Given the description of an element on the screen output the (x, y) to click on. 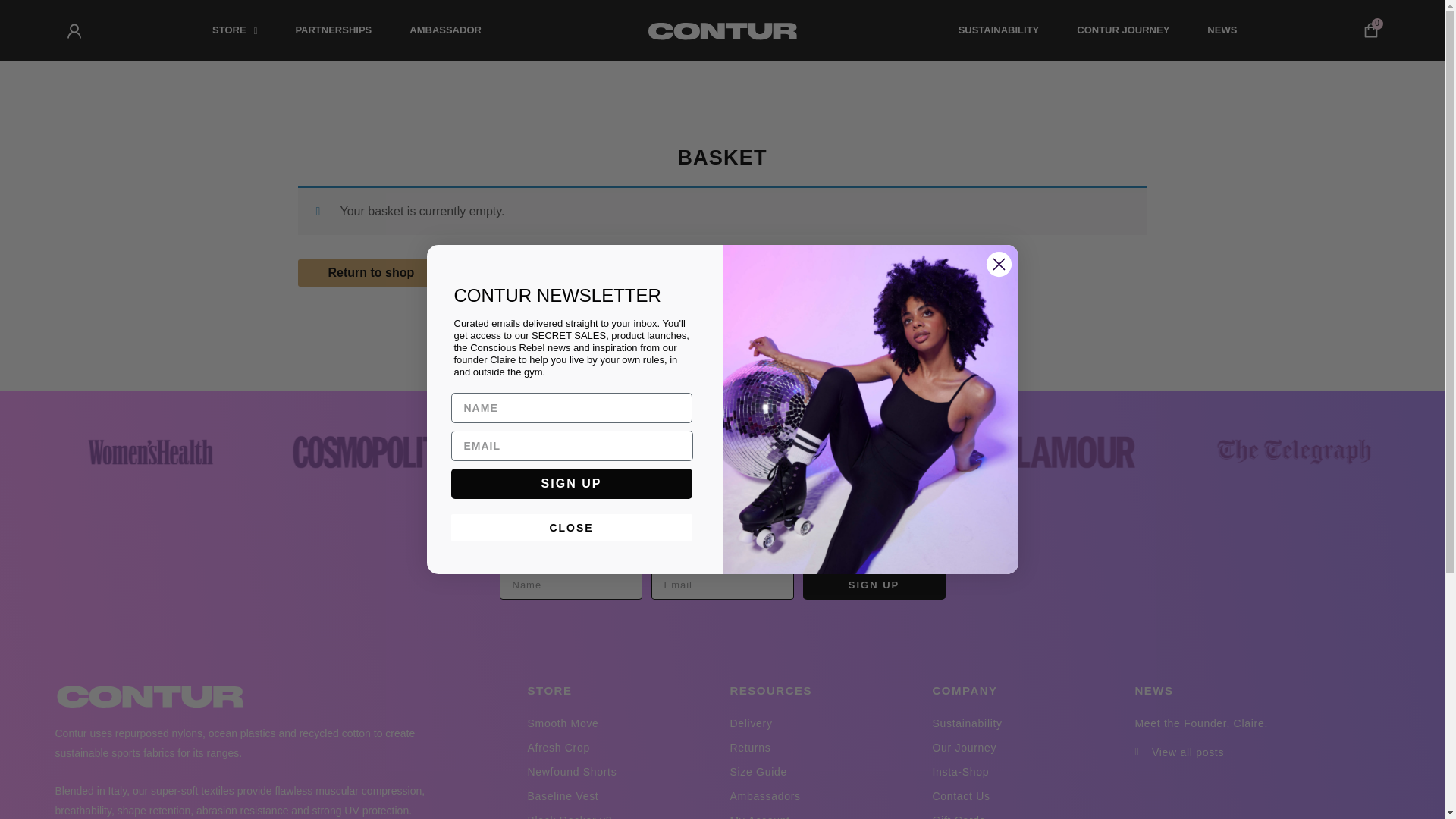
STORE (234, 30)
PARTNERSHIPS (333, 30)
SUSTAINABILITY (998, 30)
CONTUR JOURNEY (1123, 30)
0 (1370, 29)
AMBASSADOR (445, 30)
